Given the description of an element on the screen output the (x, y) to click on. 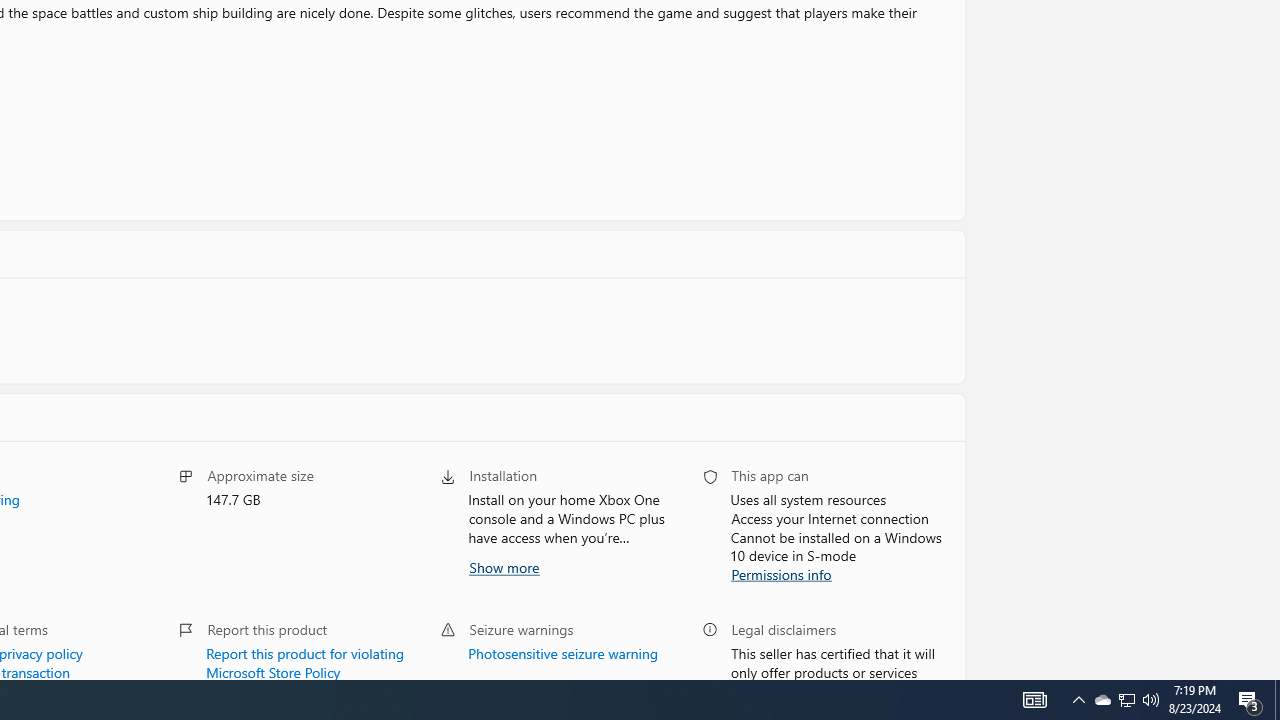
Permissions info (780, 572)
Photosensitive seizure warning (562, 651)
Show more (502, 566)
Report this product for violating Microsoft Store Policy (306, 660)
